Given the description of an element on the screen output the (x, y) to click on. 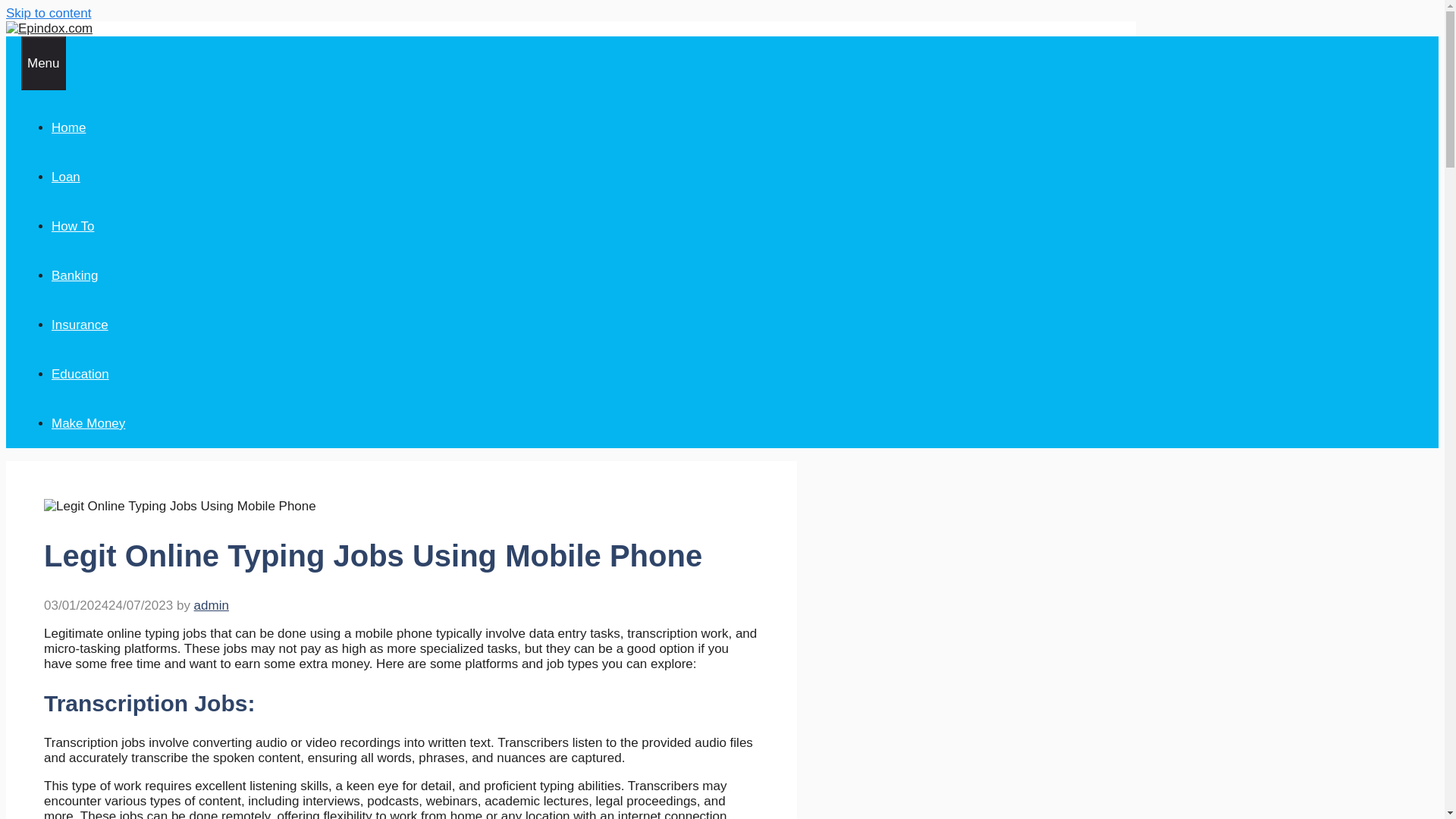
Loan (65, 176)
Home (67, 127)
Make Money (87, 423)
View all posts by admin (210, 605)
How To (72, 226)
Skip to content (47, 12)
Banking (73, 275)
Skip to content (47, 12)
admin (210, 605)
Insurance (78, 324)
Education (79, 373)
